Given the description of an element on the screen output the (x, y) to click on. 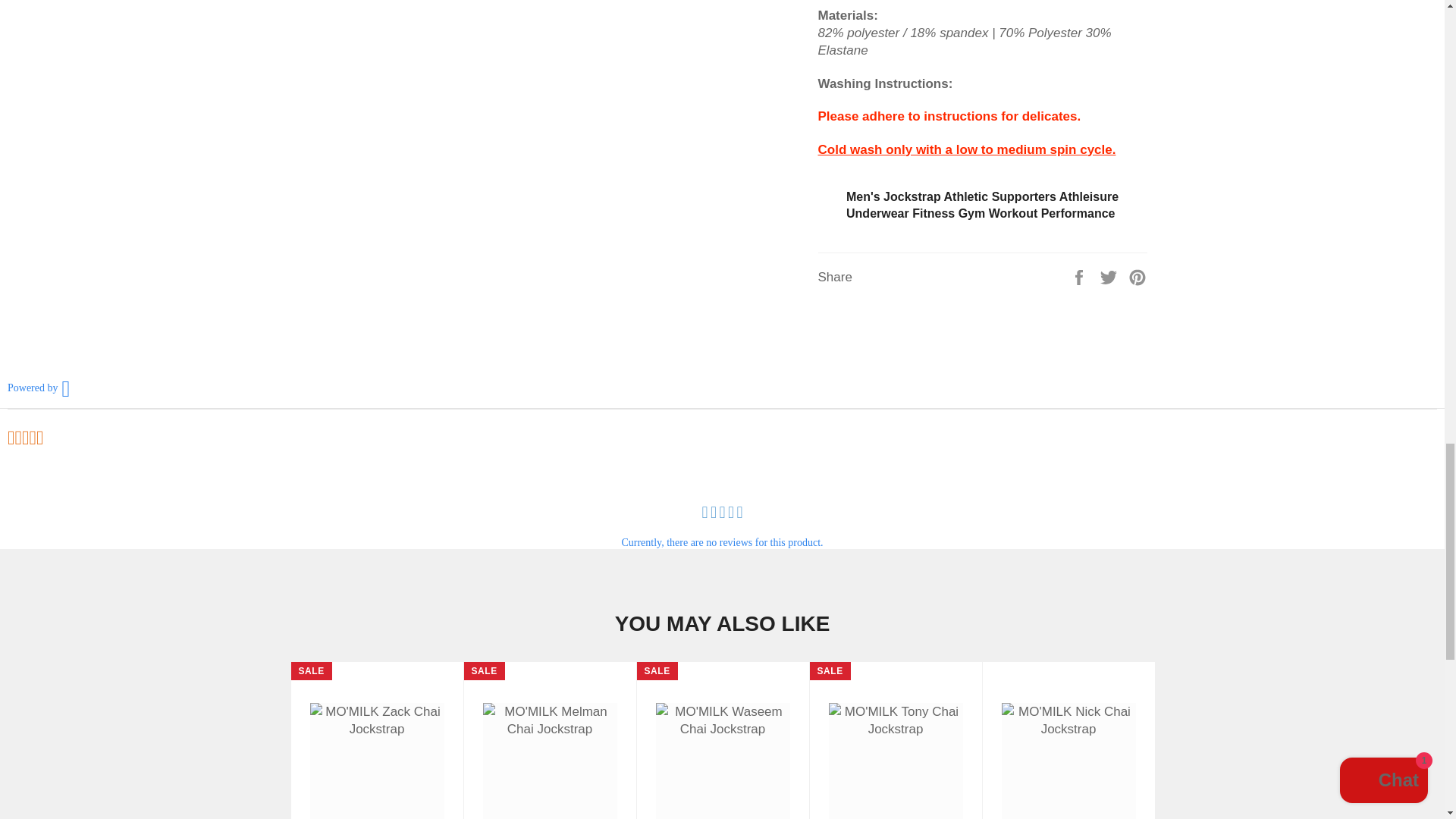
Tweet on Twitter (1110, 277)
Share on Facebook (1081, 277)
Pin on Pinterest (1137, 277)
